Given the description of an element on the screen output the (x, y) to click on. 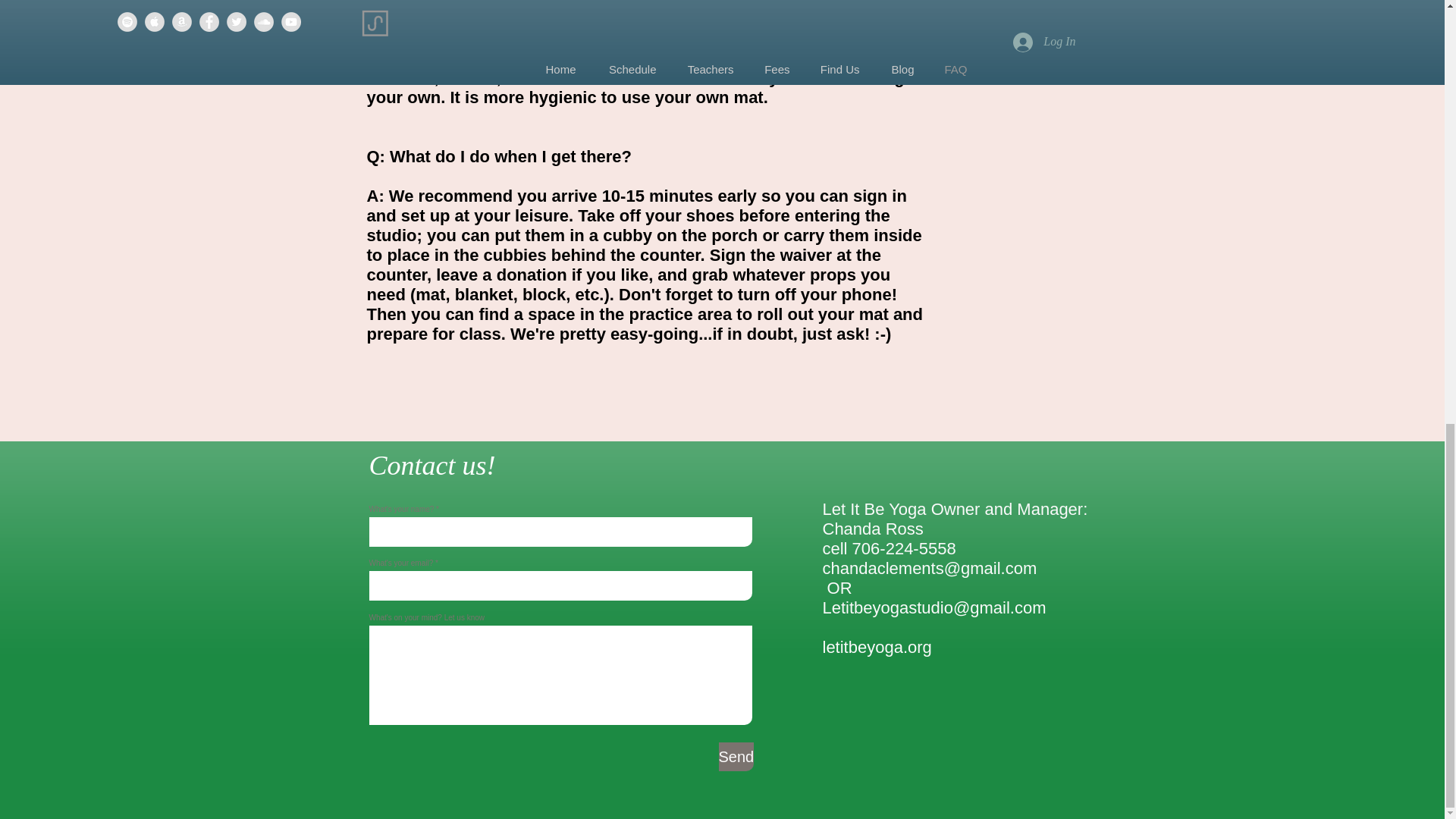
Send (736, 756)
Wix.com (610, 650)
